Given the description of an element on the screen output the (x, y) to click on. 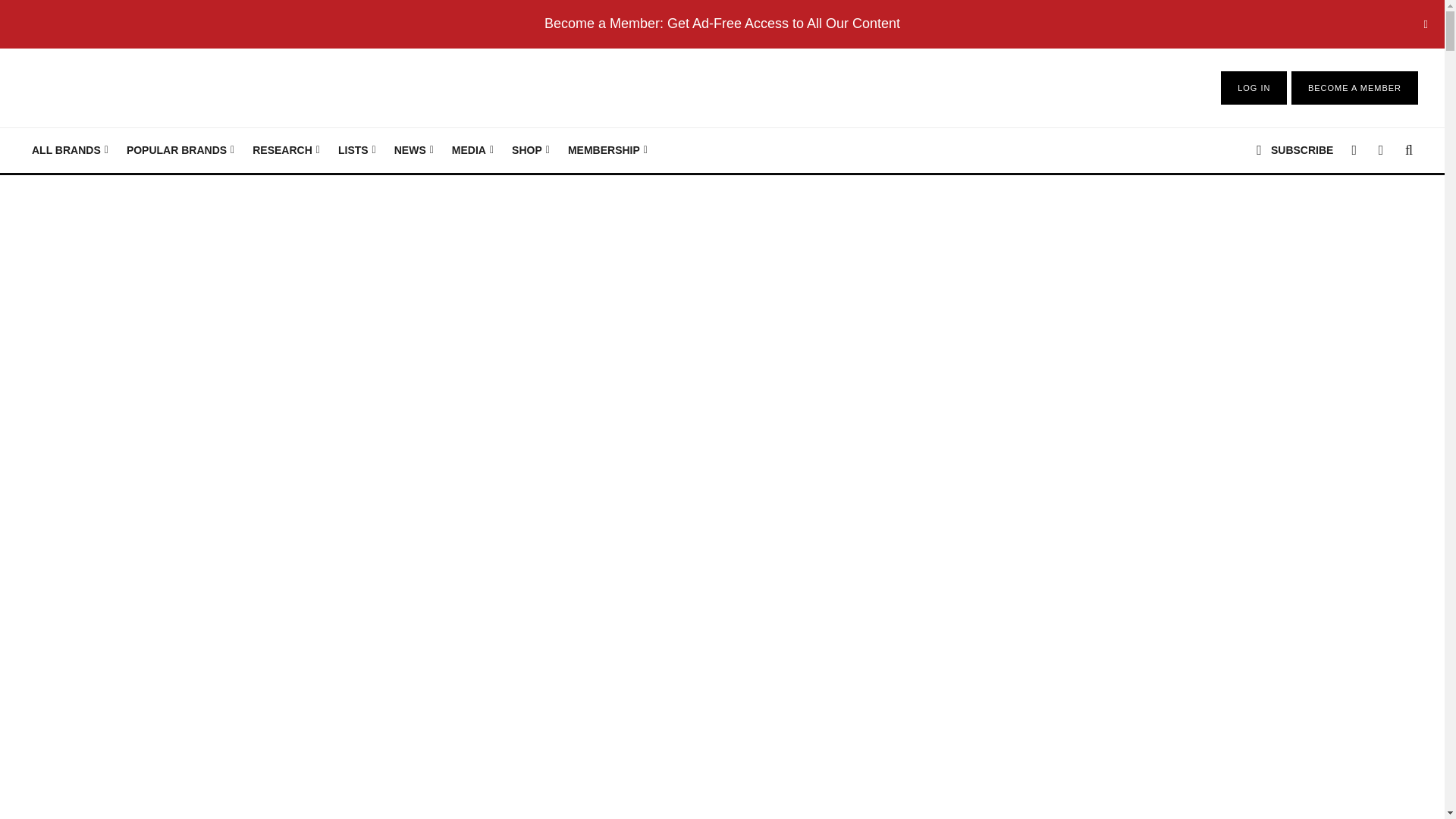
ALL BRANDS (70, 149)
LOG IN (1253, 87)
BECOME A MEMBER (1353, 87)
Become a Member: Get Ad-Free Access to All Our Content (721, 23)
Become a Member: Get Ad-Free Access to All Our Content (721, 23)
